Given the description of an element on the screen output the (x, y) to click on. 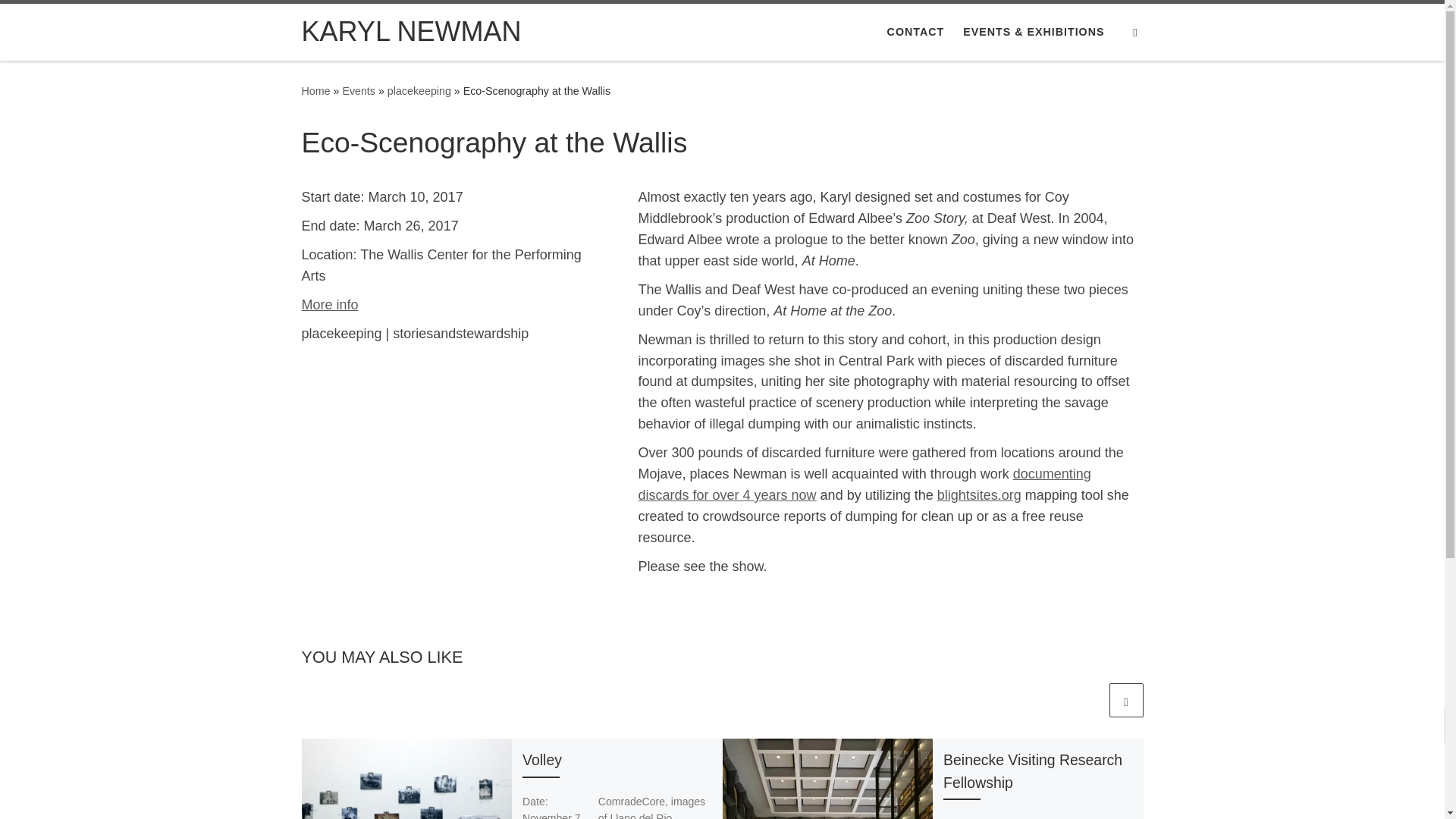
Previous related articles (1088, 700)
Events (358, 91)
Next related articles (1125, 700)
Skip to content (60, 20)
Volley (542, 759)
CONTACT (915, 31)
KARYL NEWMAN (315, 91)
More info (329, 304)
blightsites.org (979, 494)
placekeeping (419, 91)
